Given the description of an element on the screen output the (x, y) to click on. 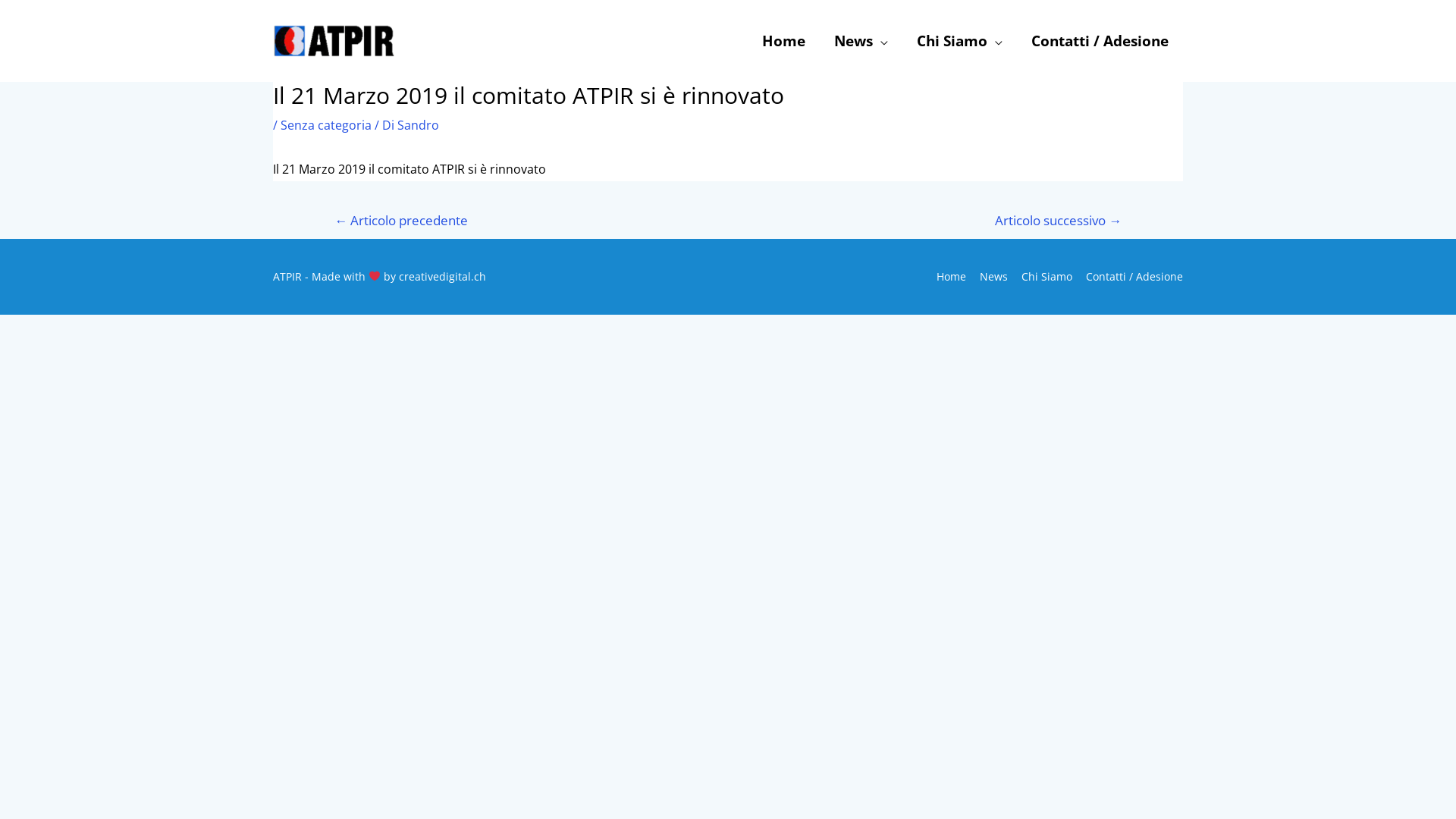
Contatti / Adesione Element type: text (1129, 276)
News Element type: text (988, 276)
News Element type: text (860, 40)
Sandro Element type: text (418, 124)
Chi Siamo Element type: text (1041, 276)
Contatti / Adesione Element type: text (1099, 40)
Home Element type: text (945, 276)
Chi Siamo Element type: text (959, 40)
Home Element type: text (783, 40)
Senza categoria Element type: text (325, 124)
